Given the description of an element on the screen output the (x, y) to click on. 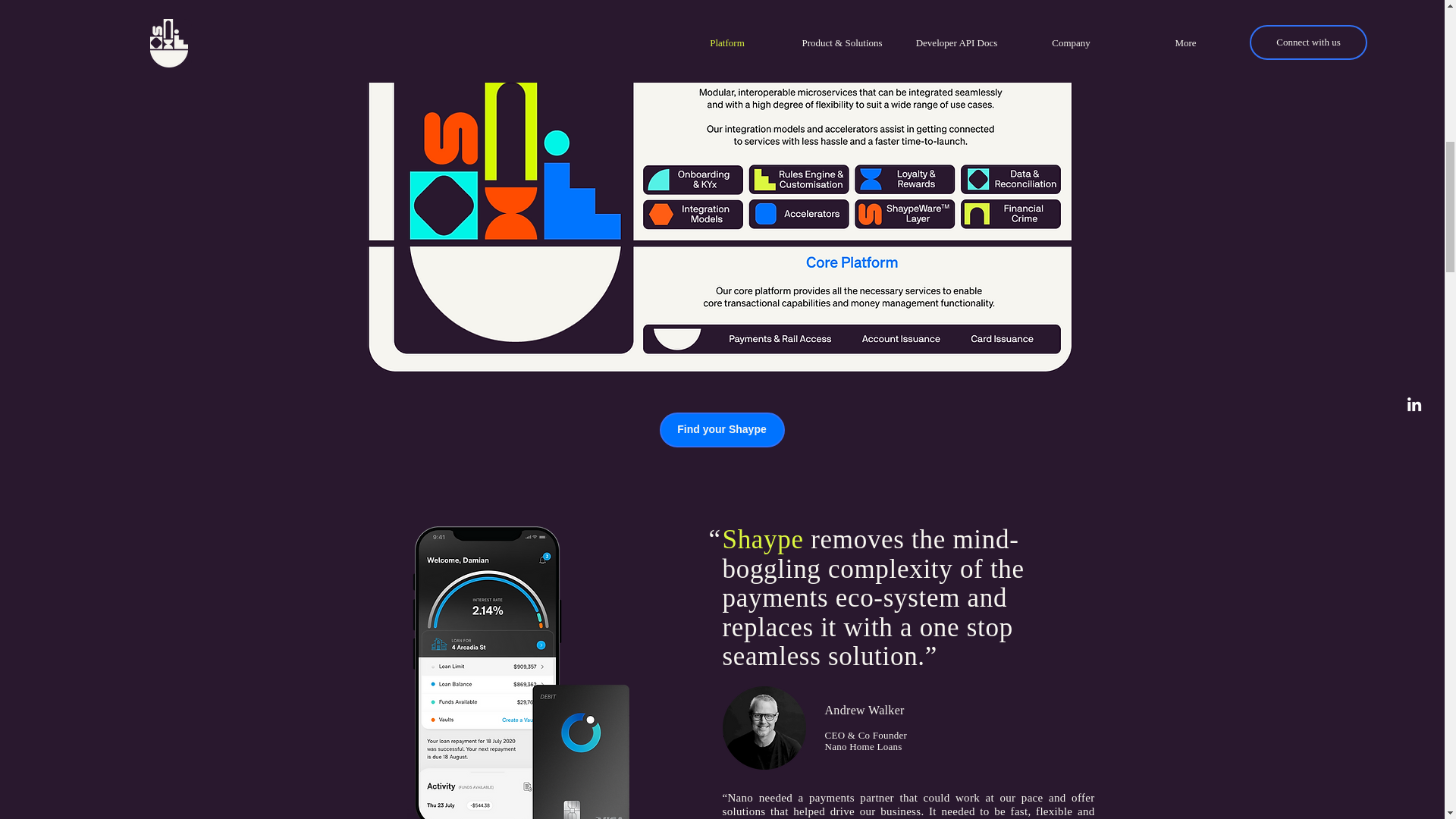
Find your Shaype (721, 429)
